Given the description of an element on the screen output the (x, y) to click on. 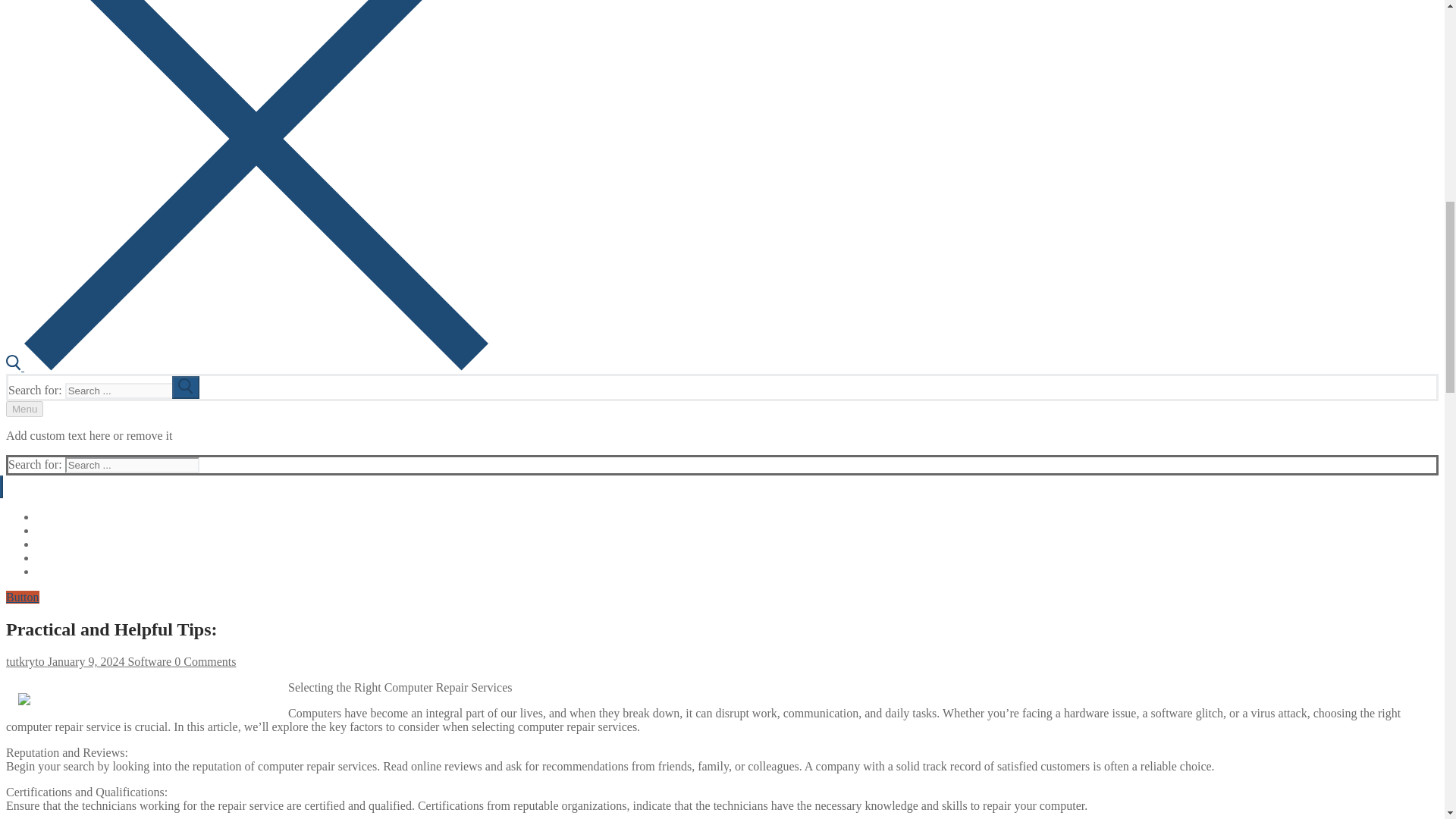
Menu (24, 408)
Software (147, 661)
tutkryto (25, 661)
0 Comments (203, 661)
January 9, 2024 (85, 661)
Button (22, 596)
Search for: (132, 390)
Search for: (132, 465)
